Given the description of an element on the screen output the (x, y) to click on. 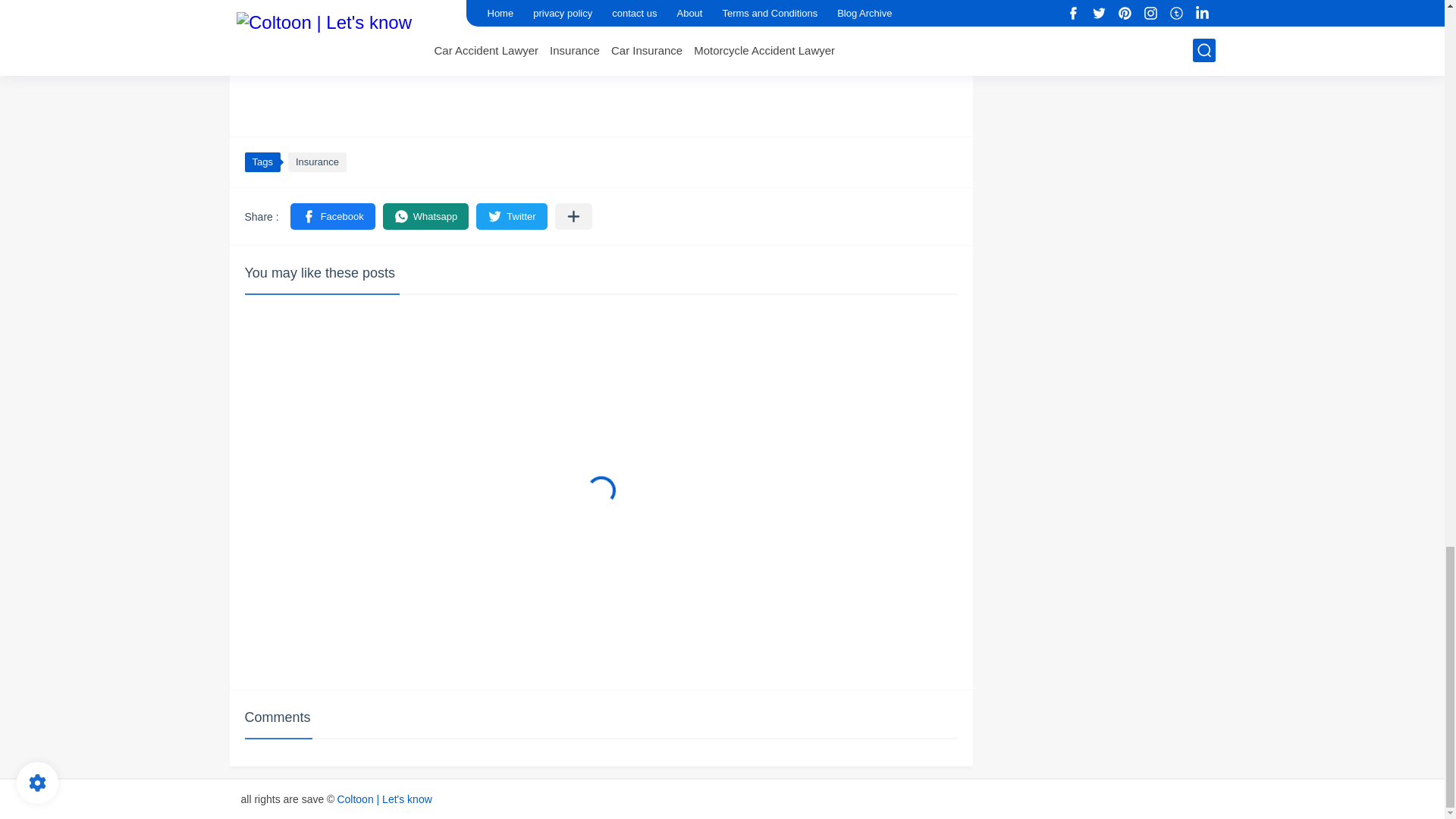
Insurance (317, 161)
Insurance (317, 161)
